Given the description of an element on the screen output the (x, y) to click on. 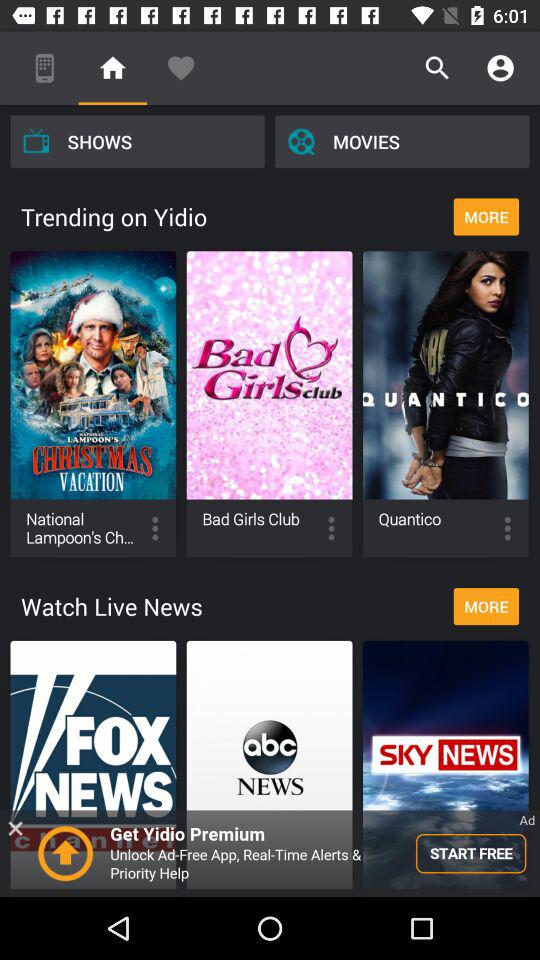
launch the item next to the shows (402, 141)
